Given the description of an element on the screen output the (x, y) to click on. 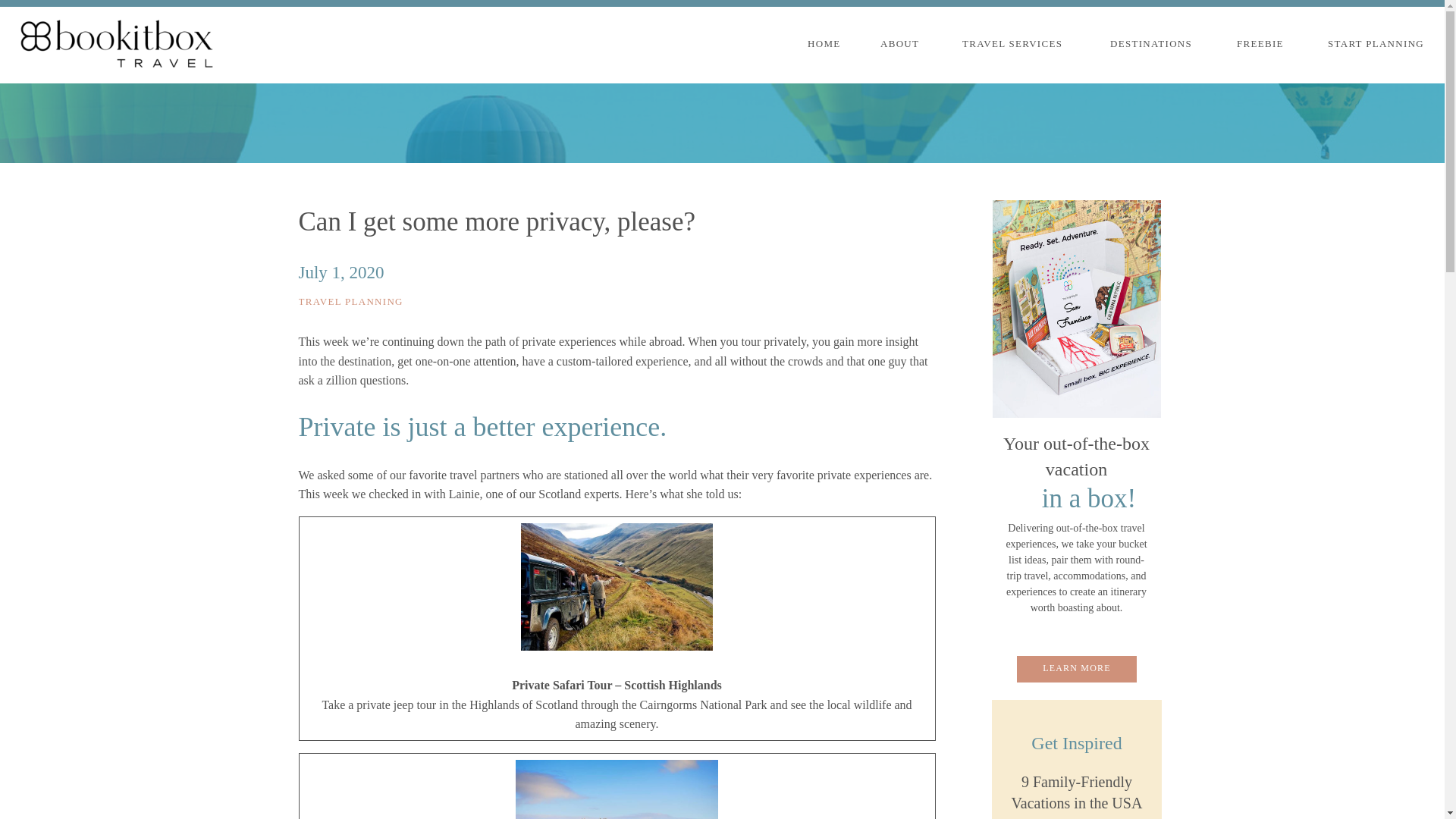
FREEBIE (1263, 46)
TRAVEL SERVICES (1019, 46)
DESTINATIONS (1153, 46)
HOME (825, 46)
ABOUT (902, 46)
LEARN MORE (1077, 669)
TRAVEL PLANNING (350, 301)
